Given the description of an element on the screen output the (x, y) to click on. 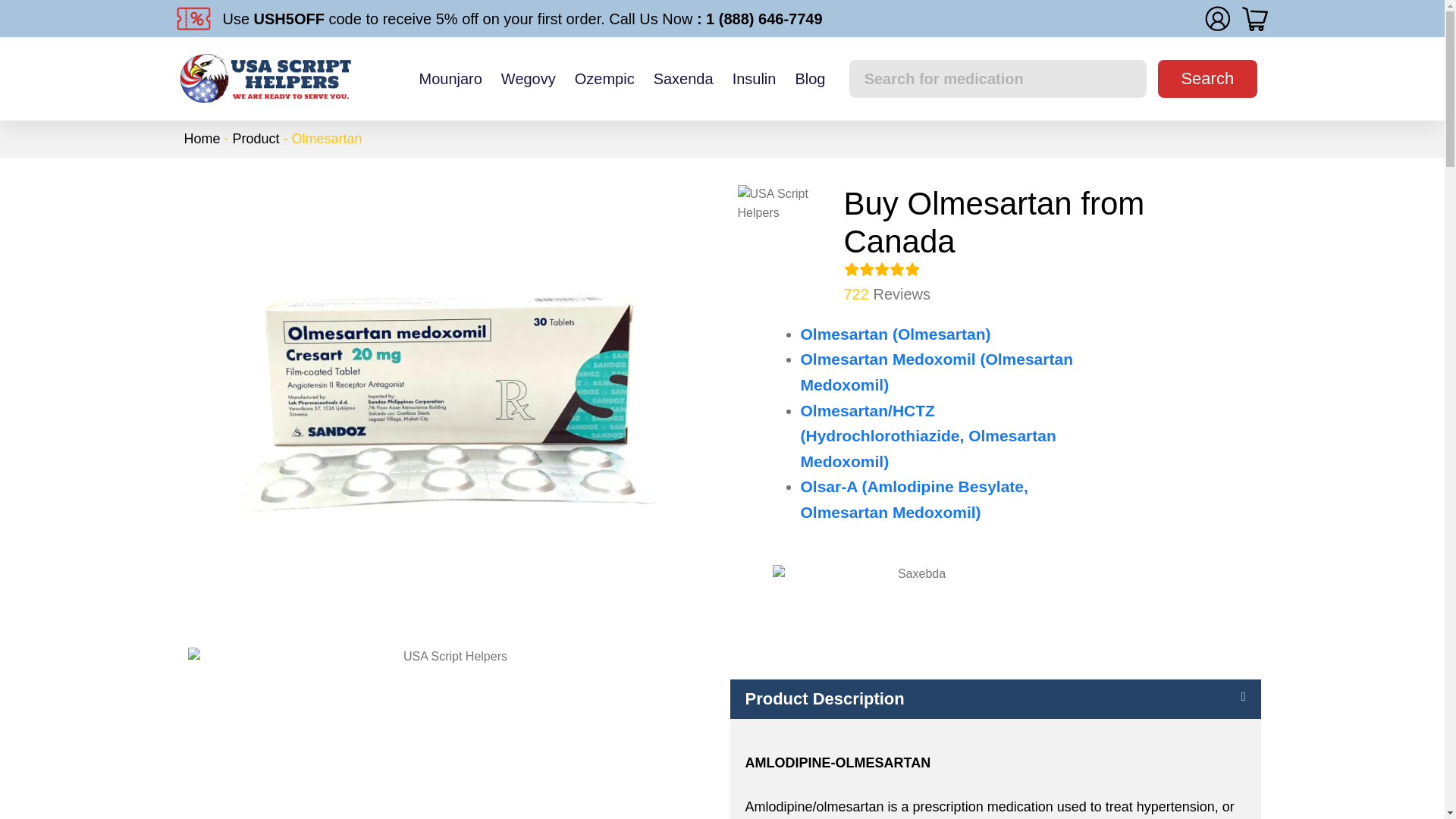
Insulin (754, 78)
Ozempic (604, 78)
Wegovy (528, 78)
search (1207, 78)
Saxenda (683, 78)
Mounjaro (450, 78)
search (1207, 78)
